Given the description of an element on the screen output the (x, y) to click on. 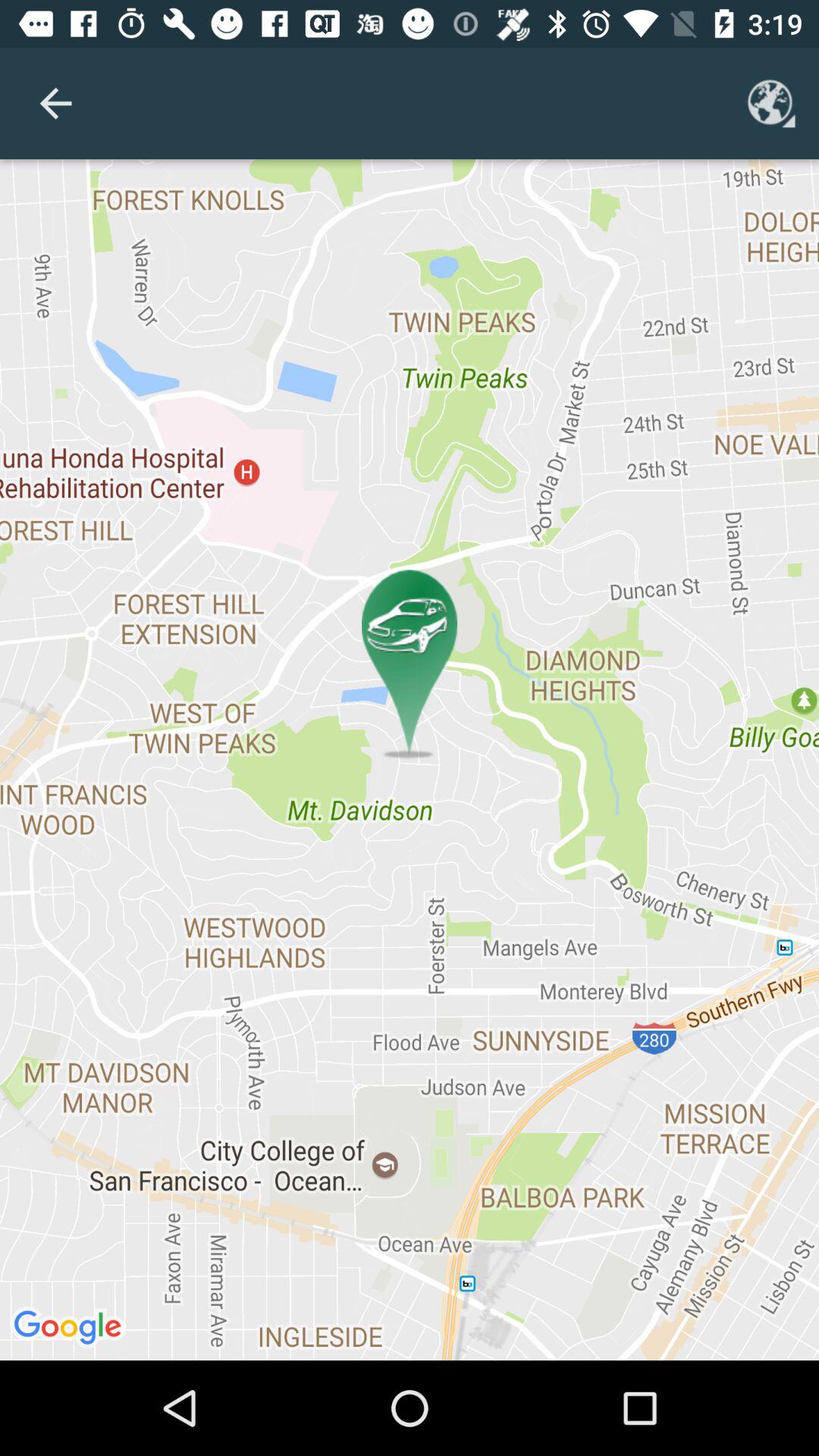
select item at the top left corner (55, 103)
